Given the description of an element on the screen output the (x, y) to click on. 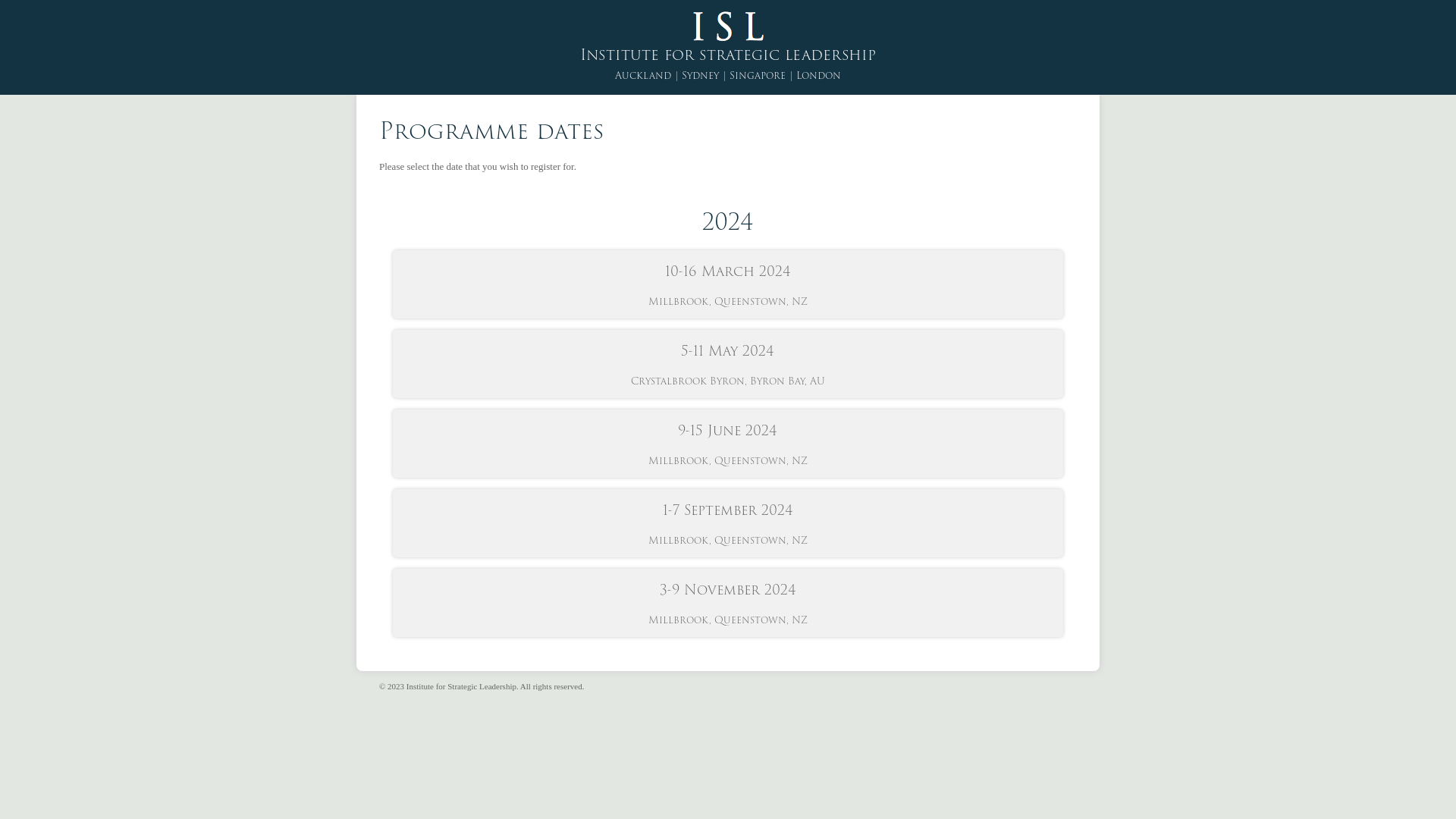
5-11 May 2024
Crystalbrook Byron, Byron Bay, AU Element type: text (727, 363)
3-9 November 2024
Millbrook, Queenstown, NZ Element type: text (727, 602)
10-16 March 2024
Millbrook, Queenstown, NZ Element type: text (727, 284)
1-7 September 2024
Millbrook, Queenstown, NZ Element type: text (727, 523)
9-15 June 2024
Millbrook, Queenstown, NZ Element type: text (727, 443)
